Given the description of an element on the screen output the (x, y) to click on. 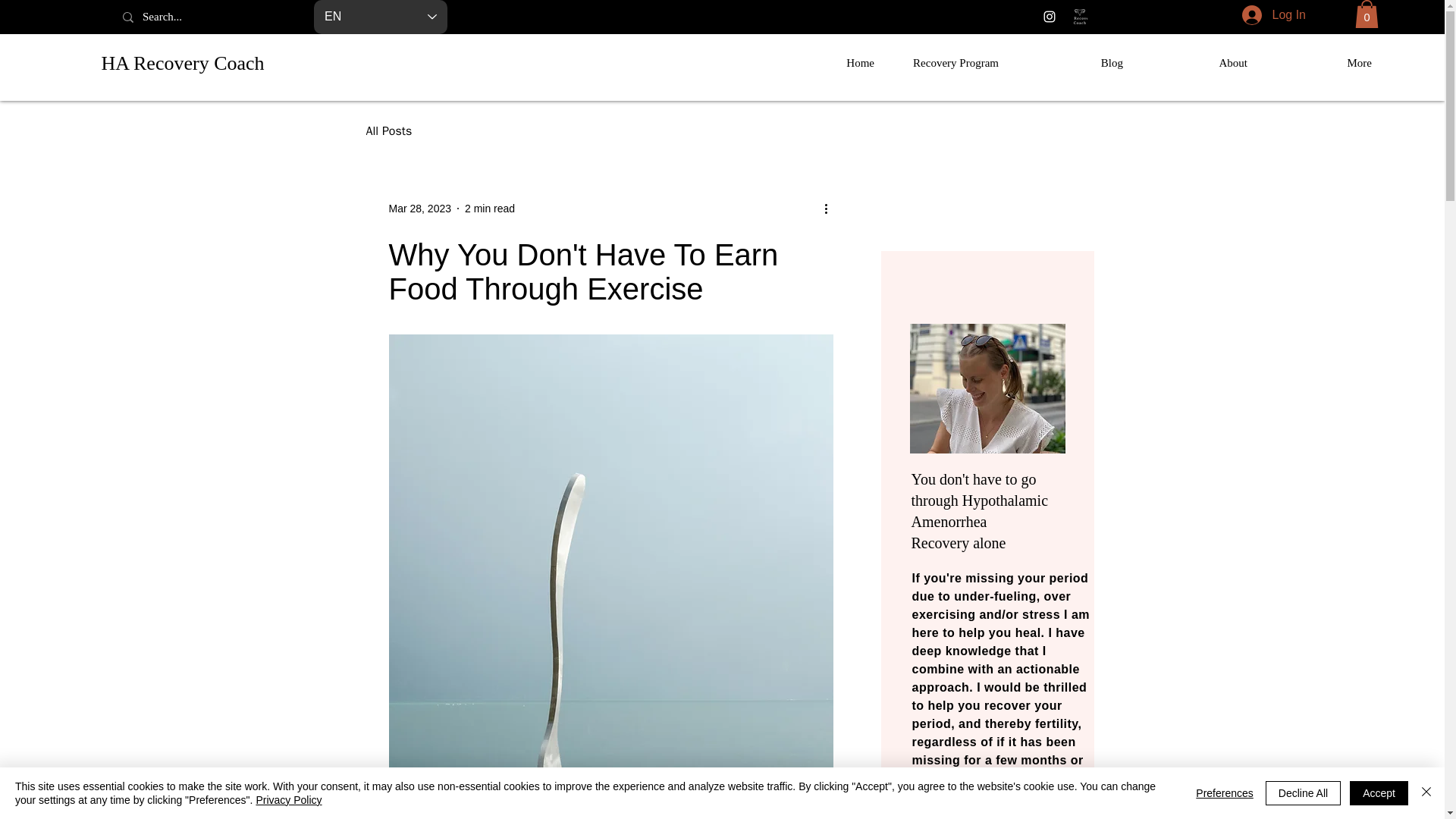
All Posts (388, 131)
About (1196, 62)
2 min read (489, 208)
Recovery Program (947, 62)
HA Recovery Coach (181, 63)
Blog (1072, 62)
Home (823, 62)
Log In (1273, 14)
Mar 28, 2023 (419, 208)
